Given the description of an element on the screen output the (x, y) to click on. 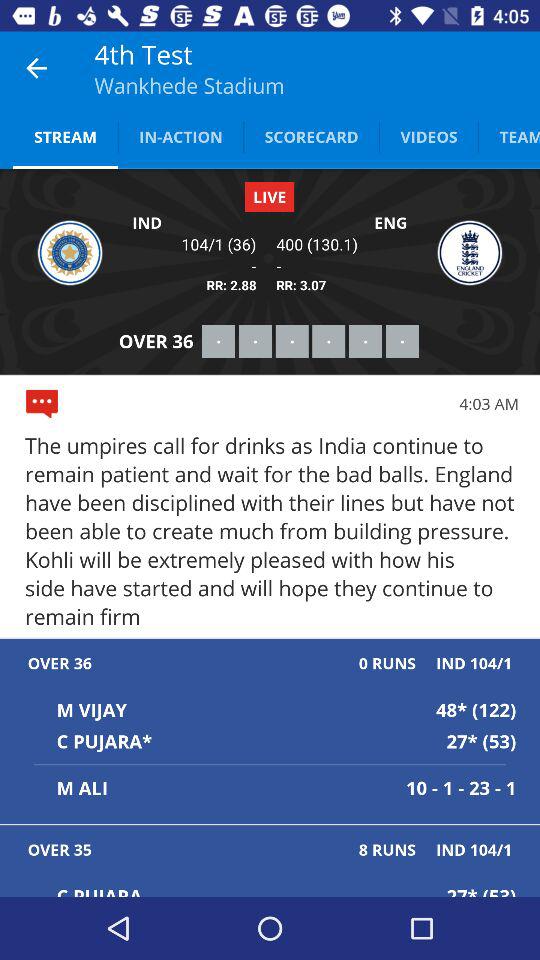
select the app above stream (36, 68)
